Given the description of an element on the screen output the (x, y) to click on. 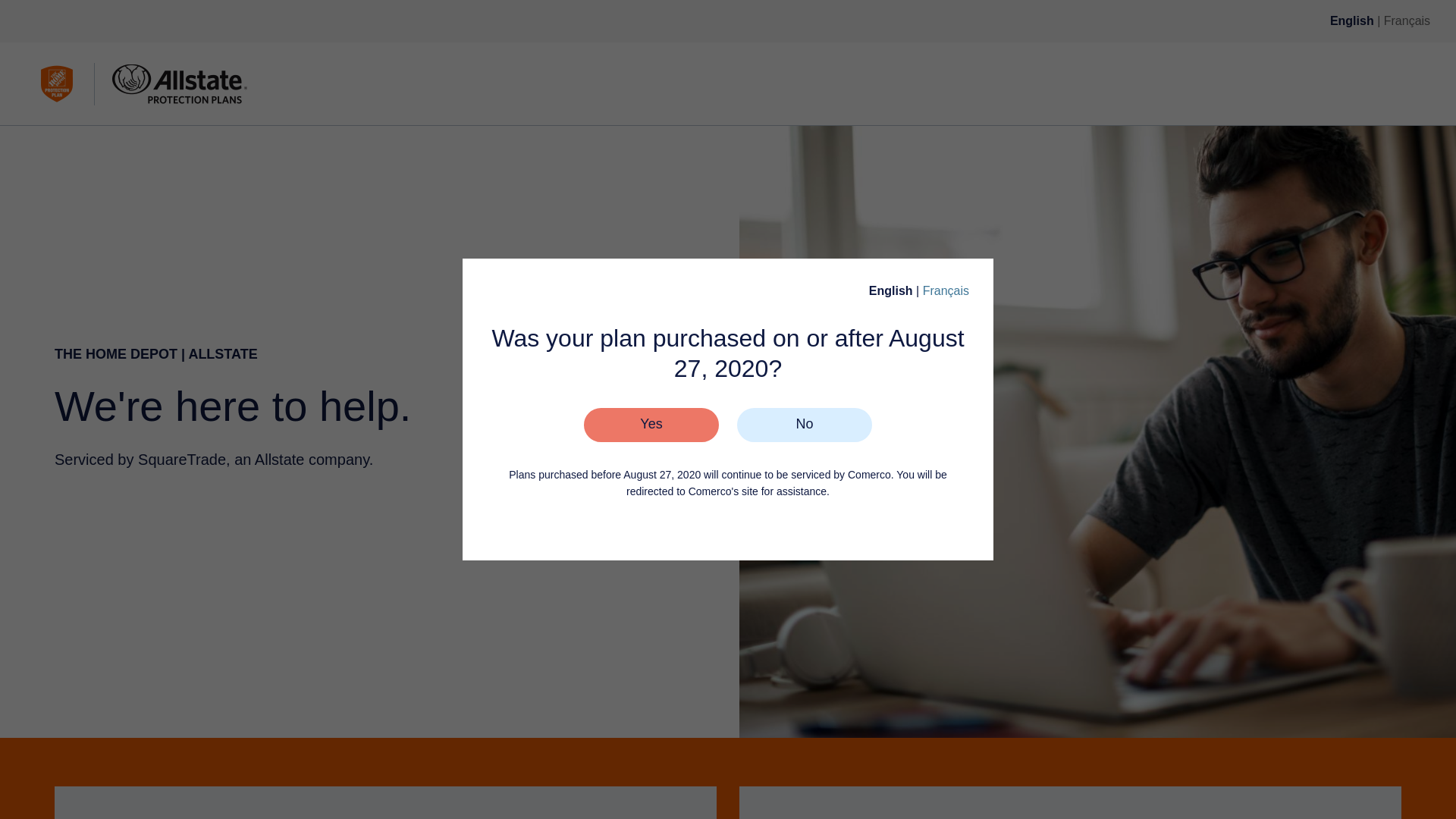
No (804, 424)
Yes (651, 424)
